Given the description of an element on the screen output the (x, y) to click on. 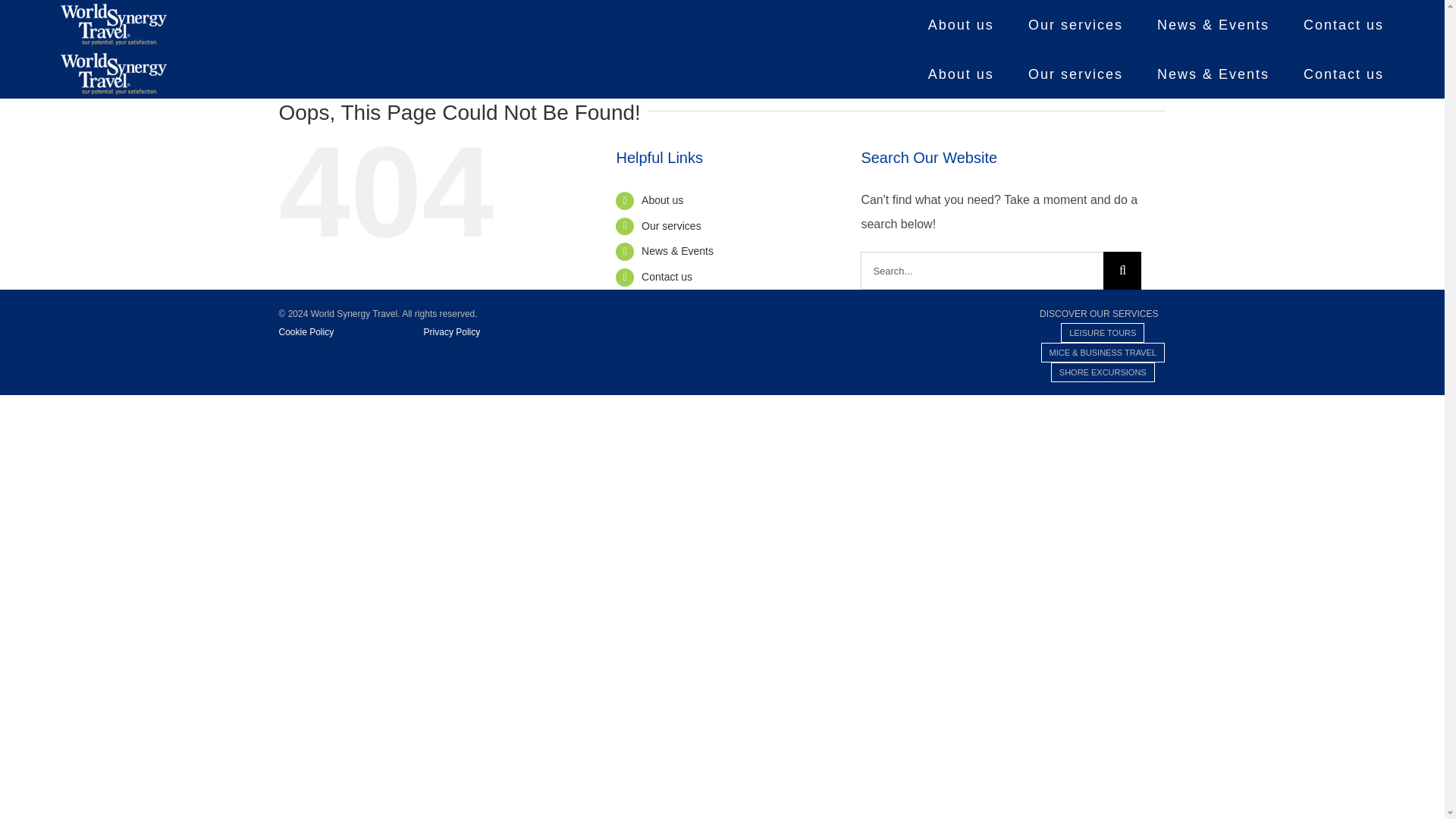
About us (961, 24)
Our services (1074, 73)
About us (662, 200)
Our services (1074, 24)
About us (961, 73)
Contact us (667, 276)
Contact us (1343, 73)
Privacy Policy (451, 331)
LEISURE TOURS (1102, 332)
SHORE EXCURSIONS (1102, 372)
Our services (671, 225)
Contact us (1343, 24)
Cookie Policy (350, 331)
